Given the description of an element on the screen output the (x, y) to click on. 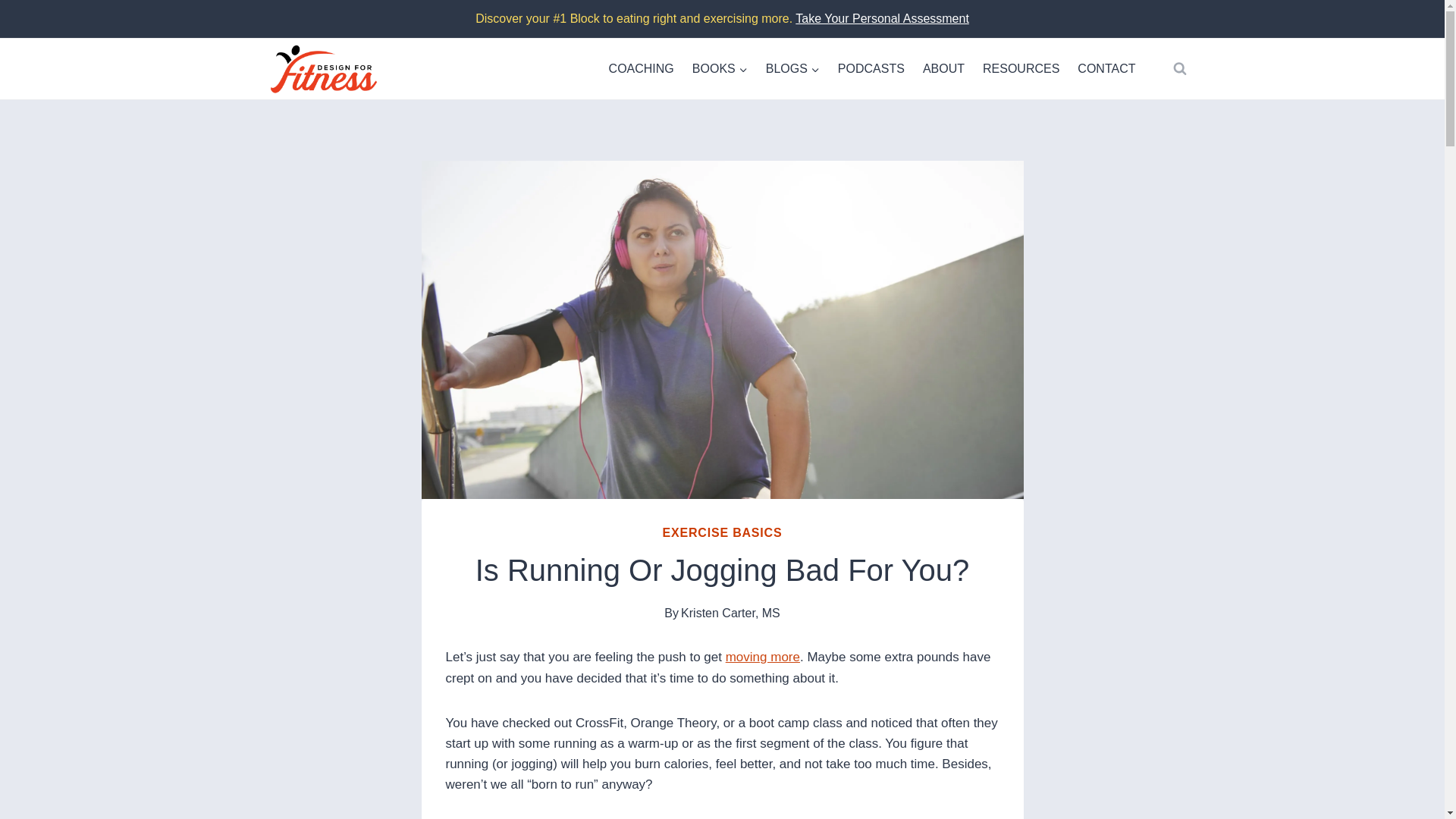
EXERCISE BASICS (722, 532)
Take Your Personal Assessment (881, 18)
BLOGS (792, 68)
PODCASTS (871, 68)
CONTACT (1106, 68)
RESOURCES (1021, 68)
BOOKS (719, 68)
COACHING (640, 68)
ABOUT (944, 68)
moving more (762, 657)
